Given the description of an element on the screen output the (x, y) to click on. 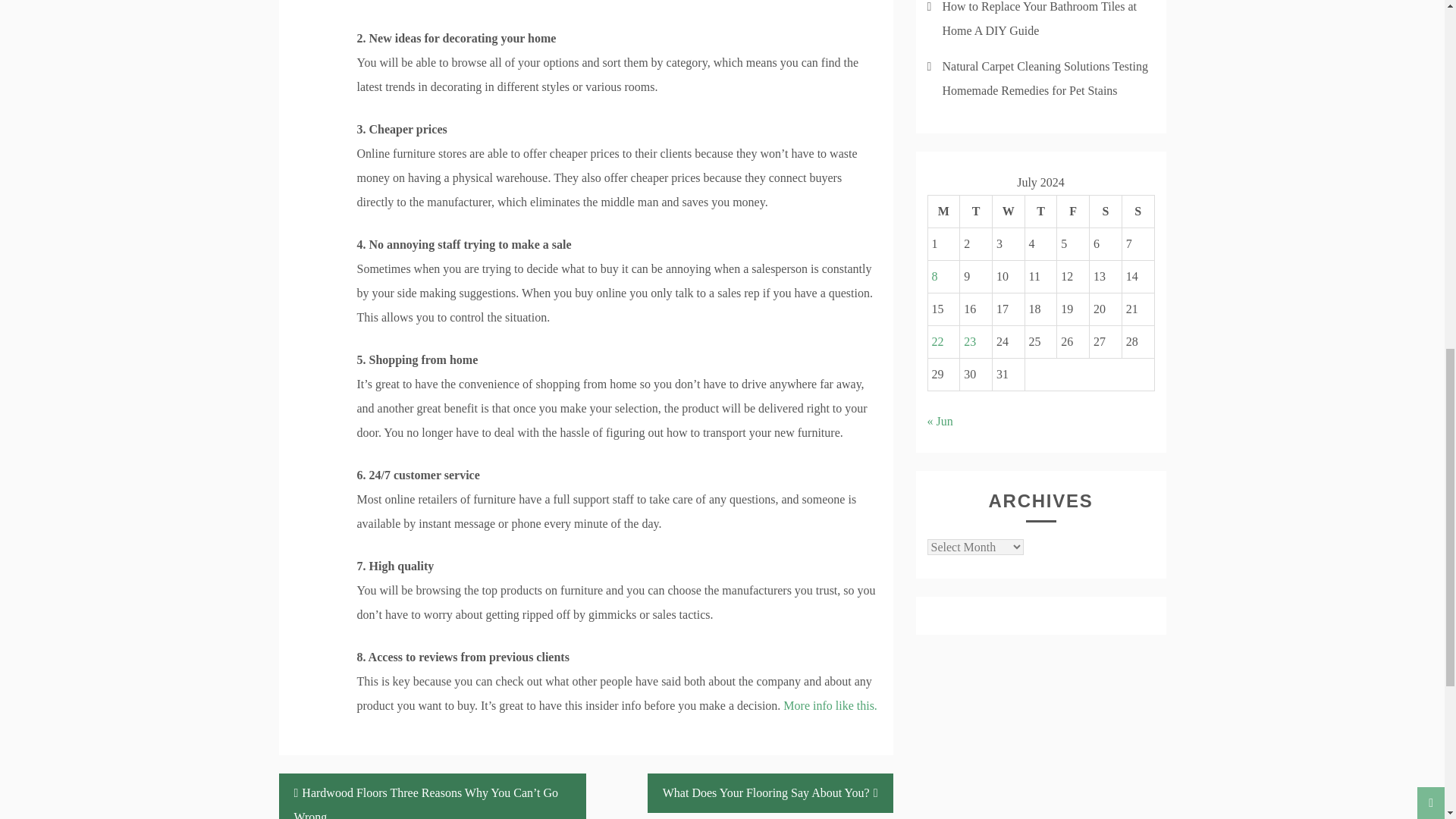
Portland home improvement, Portland home improvement (830, 705)
What Does Your Flooring Say About You? (770, 793)
Saturday (1105, 211)
23 (969, 341)
Sunday (1137, 211)
More info like this. (830, 705)
Tuesday (975, 211)
Thursday (1041, 211)
Monday (943, 211)
22 (937, 341)
Friday (1073, 211)
How to Replace Your Bathroom Tiles at Home A DIY Guide (1038, 18)
Wednesday (1008, 211)
